Given the description of an element on the screen output the (x, y) to click on. 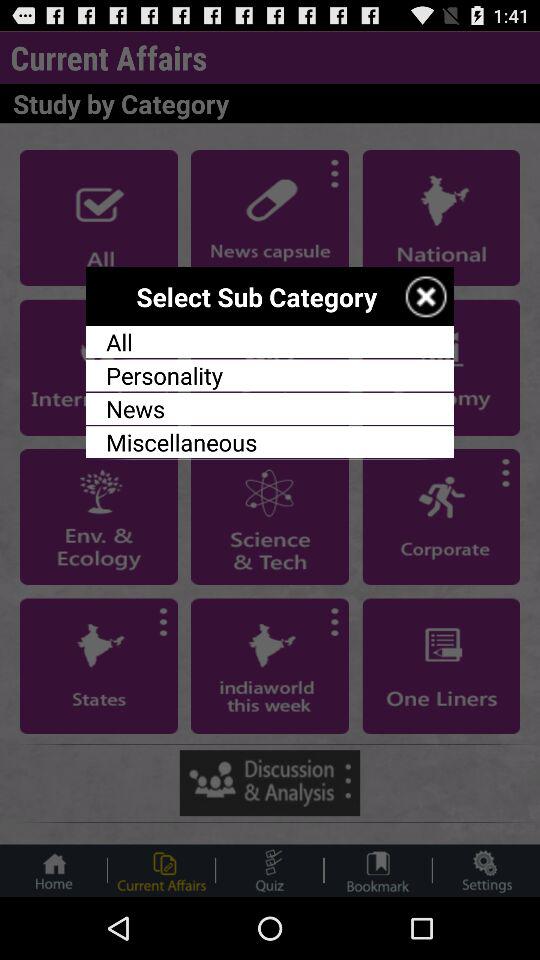
click miscellaneous icon (269, 442)
